Given the description of an element on the screen output the (x, y) to click on. 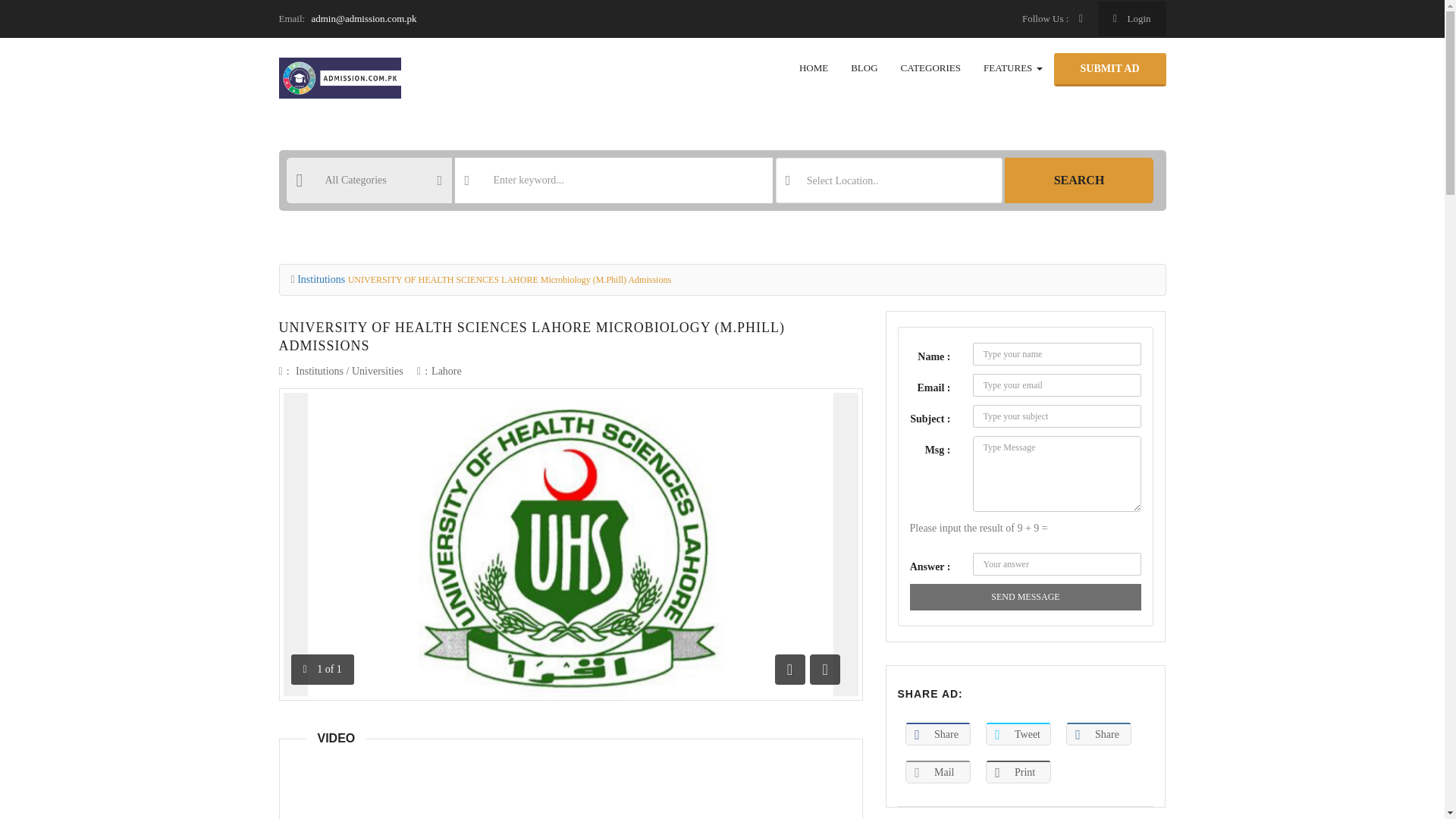
Select Location.. (888, 180)
Universities (377, 370)
View all posts in Institutions (319, 370)
SEARCH (1078, 180)
HOME (813, 68)
Features (1013, 68)
Lahore (445, 370)
FEATURES (1013, 68)
BLOG (864, 68)
CATEGORIES (930, 68)
Home (813, 68)
Institutions (321, 279)
Categories (930, 68)
Institutions (319, 370)
Login (1131, 18)
